Given the description of an element on the screen output the (x, y) to click on. 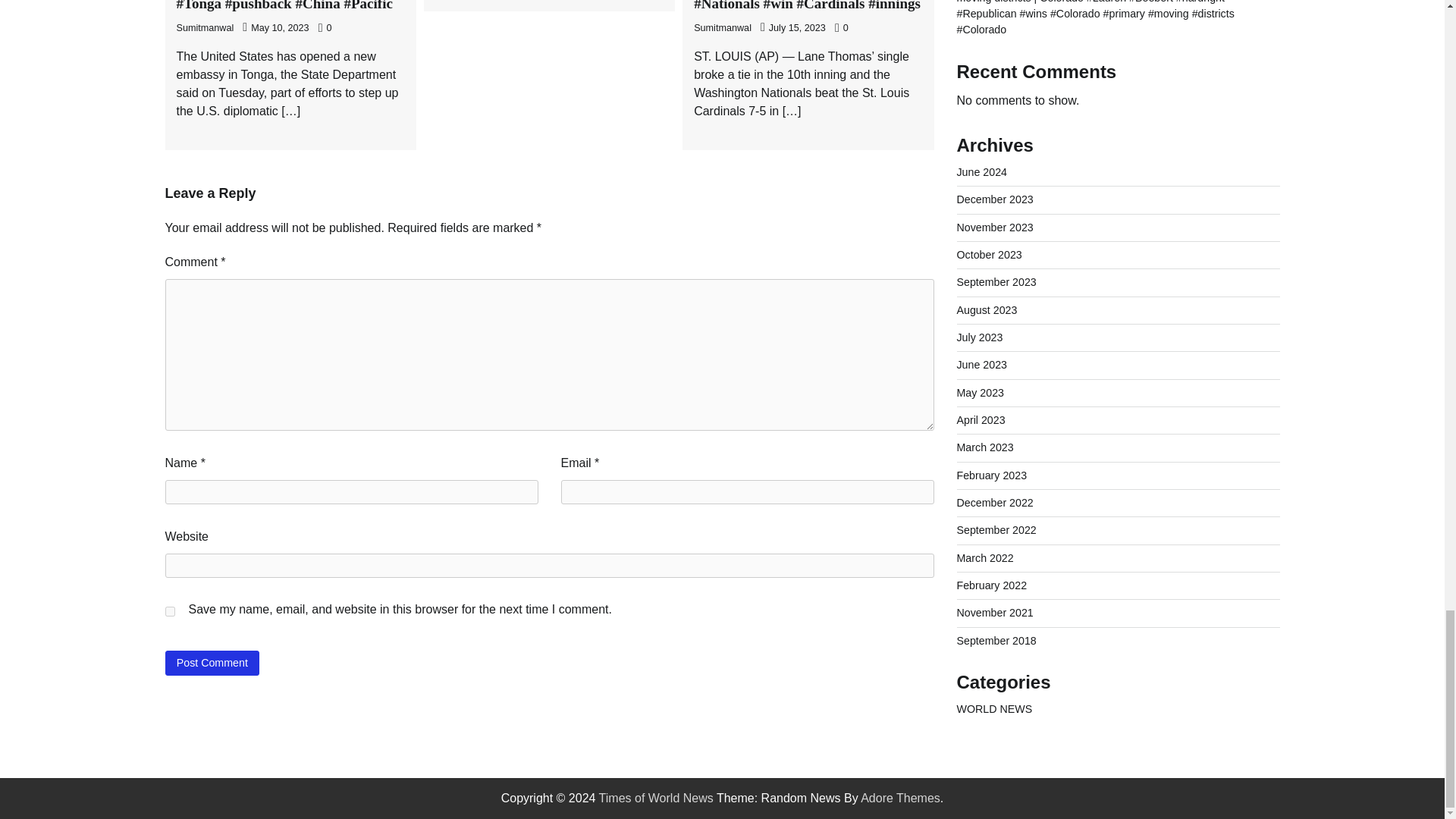
Post Comment (212, 662)
Sumitmanwal (722, 27)
Post Comment (212, 662)
yes (169, 611)
Sumitmanwal (204, 27)
